Given the description of an element on the screen output the (x, y) to click on. 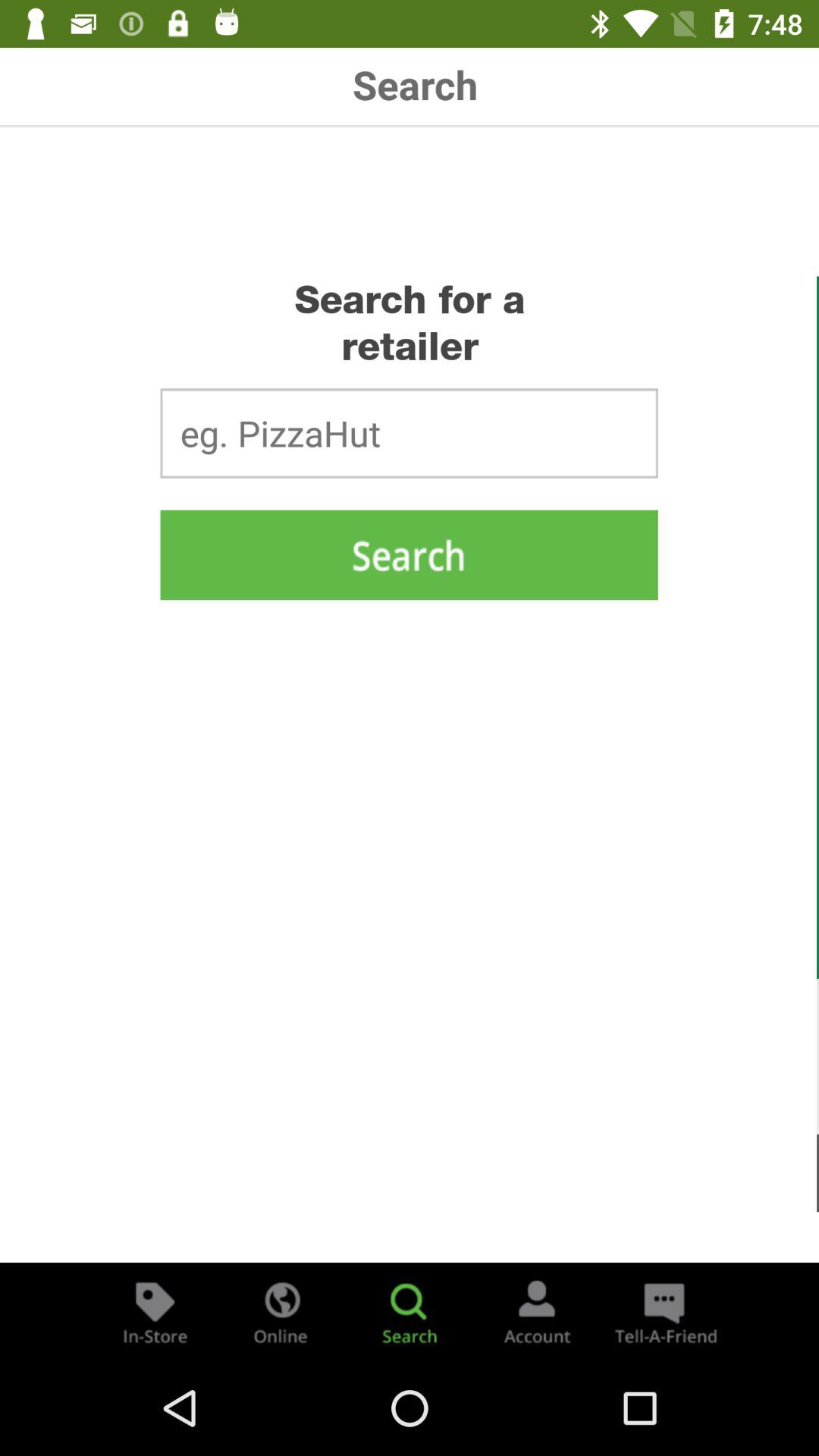
navigate to account (536, 1311)
